Given the description of an element on the screen output the (x, y) to click on. 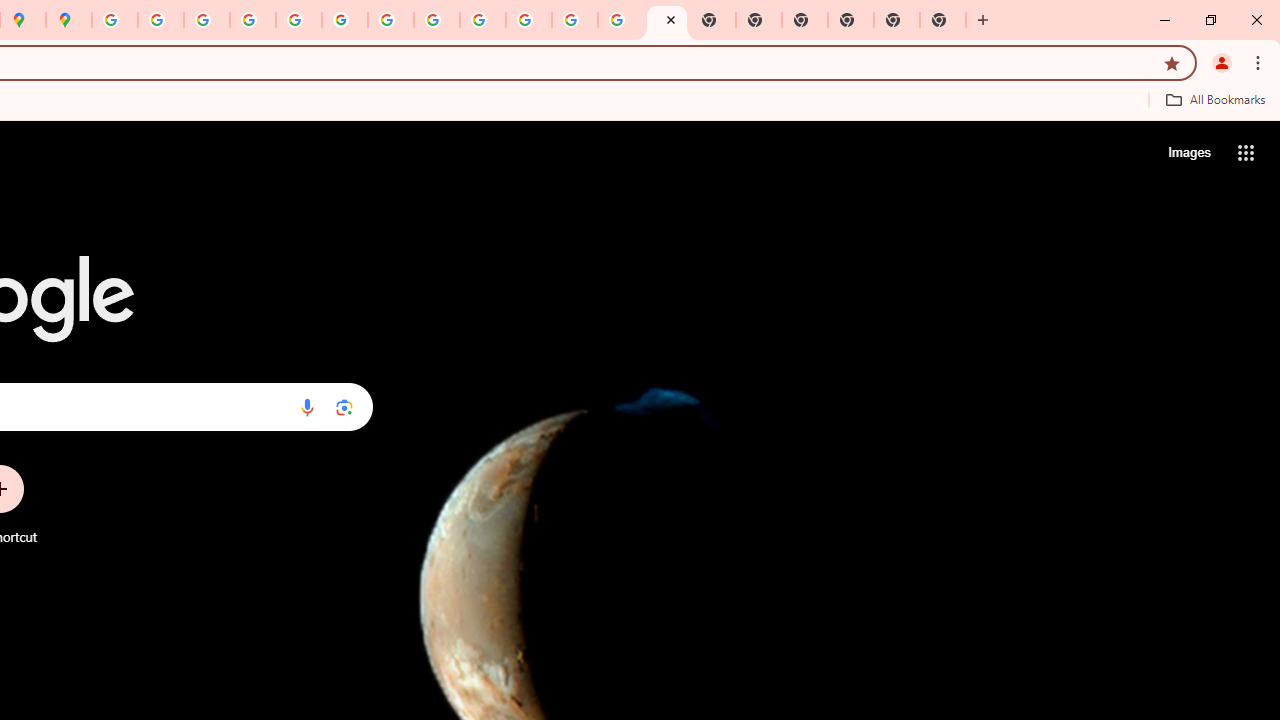
New Tab (943, 20)
YouTube (390, 20)
Privacy Help Center - Policies Help (207, 20)
